Given the description of an element on the screen output the (x, y) to click on. 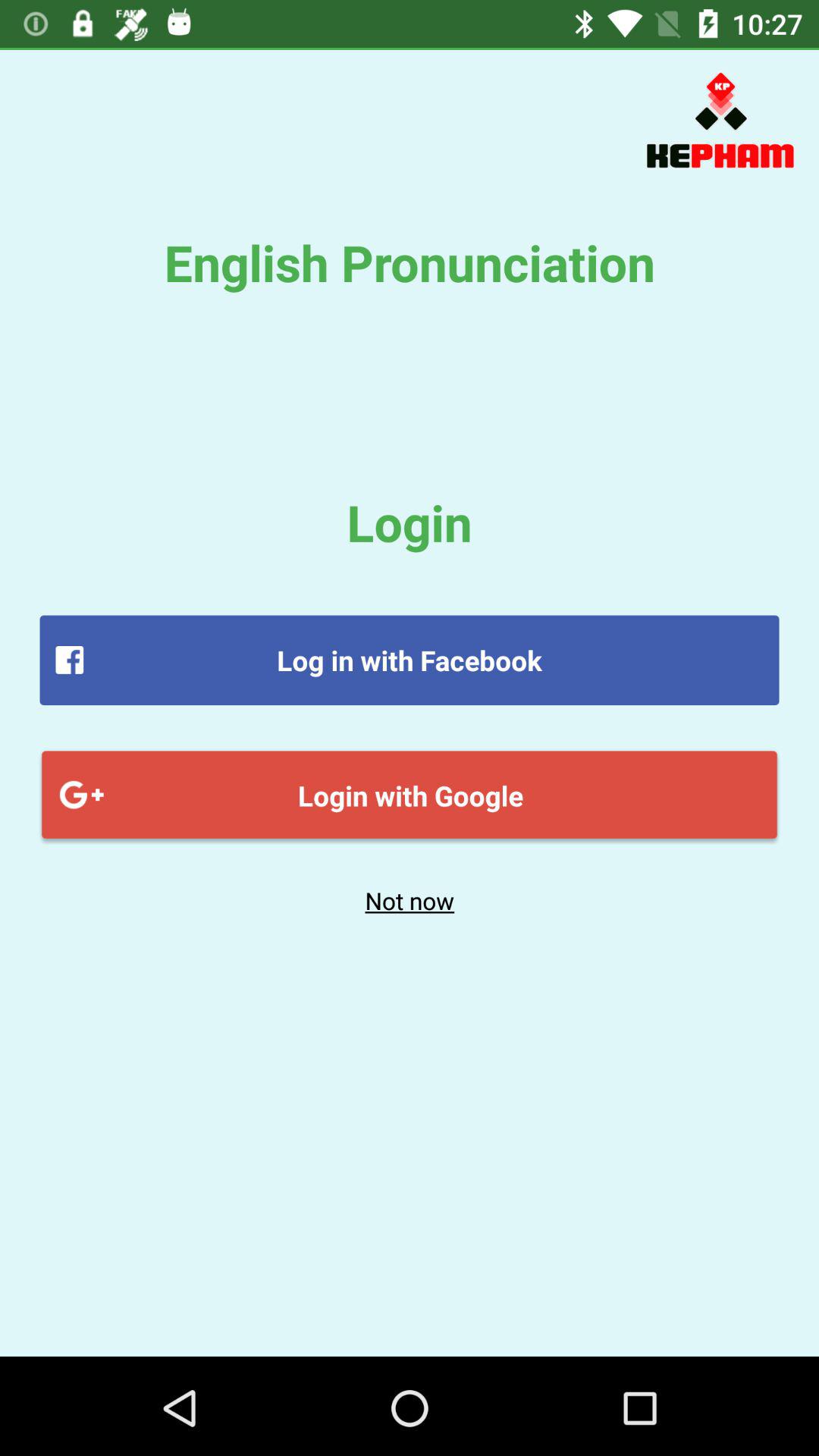
choose the item below login item (409, 660)
